Given the description of an element on the screen output the (x, y) to click on. 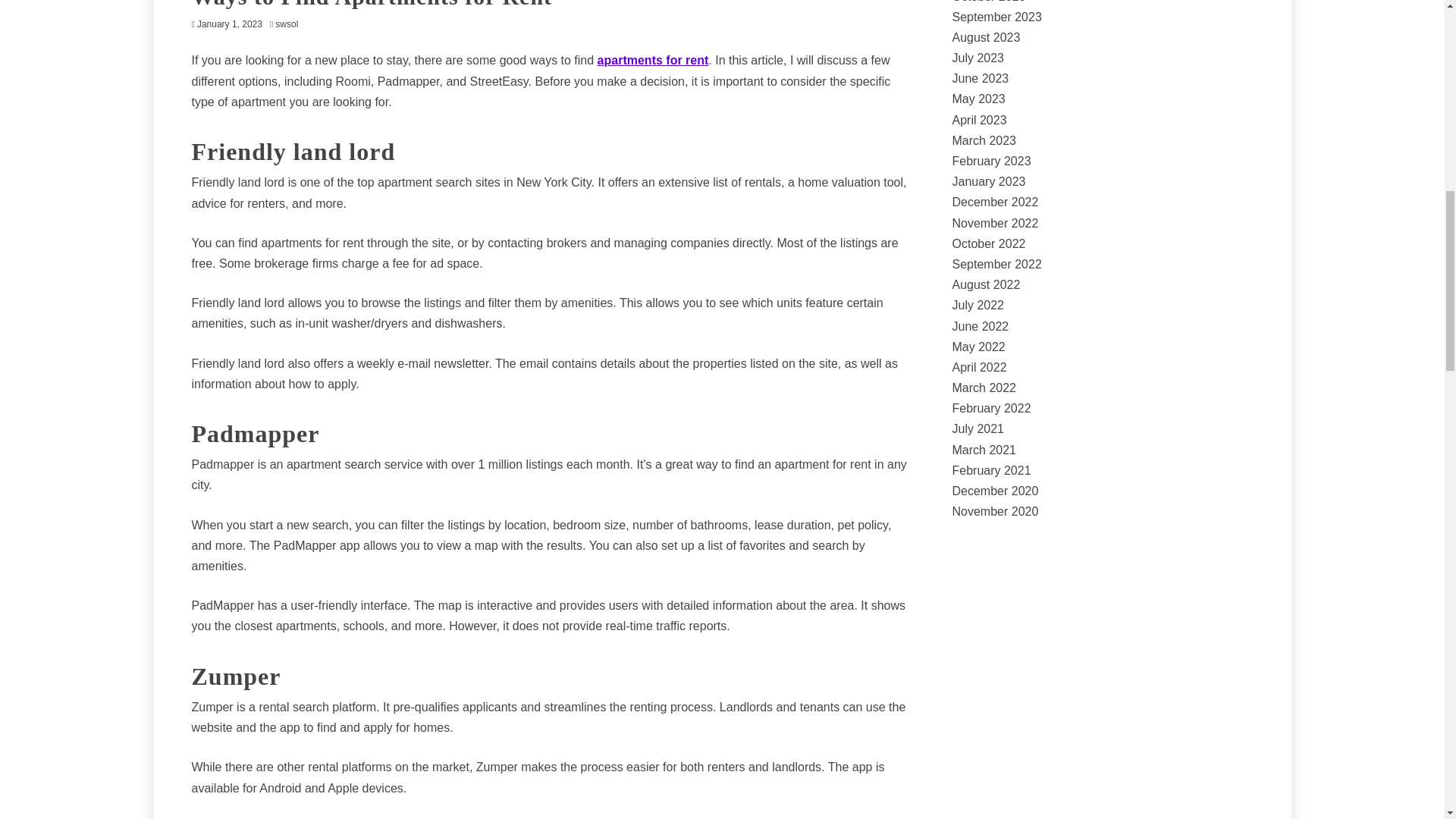
apartments for rent (652, 60)
swsol (290, 23)
January 1, 2023 (229, 23)
